Given the description of an element on the screen output the (x, y) to click on. 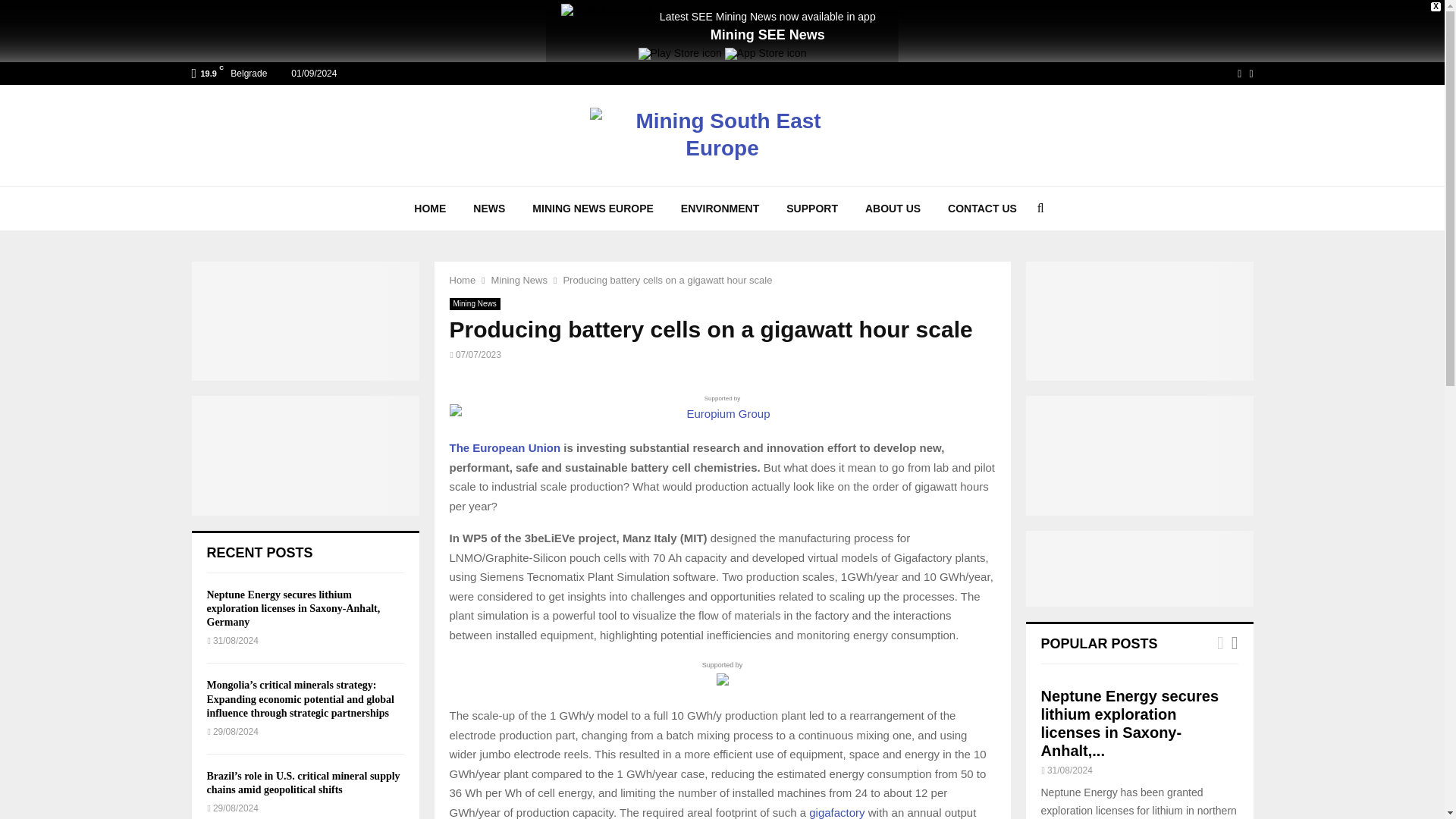
Producing battery cells on a gigawatt hour scale (666, 279)
MINING NEWS EUROPE (592, 207)
Mining News (519, 279)
Mining News (473, 304)
HOME (430, 207)
The European Union (504, 447)
Supported by (721, 408)
ABOUT US (892, 207)
Home (462, 279)
